Given the description of an element on the screen output the (x, y) to click on. 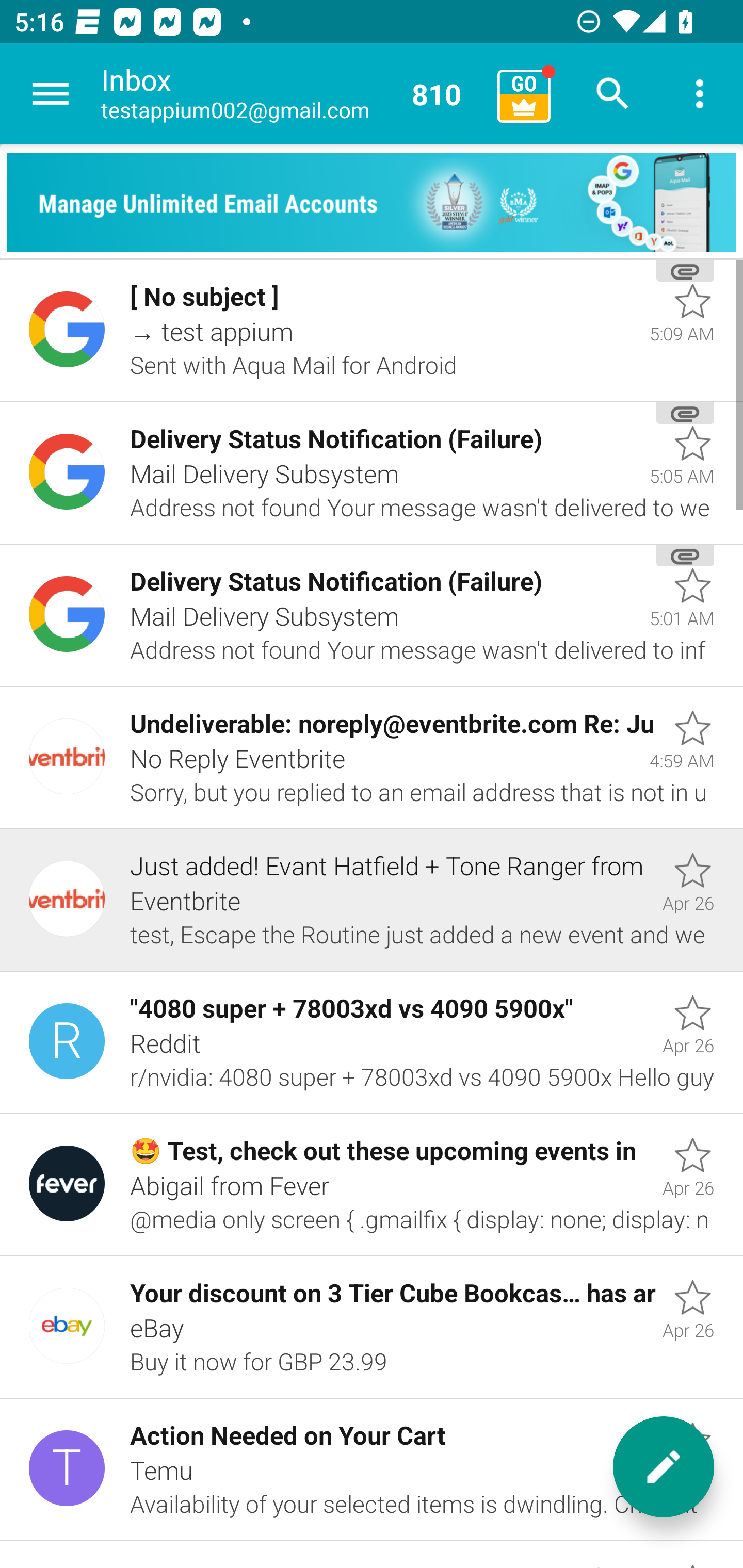
Navigate up (50, 93)
Inbox testappium002@gmail.com 810 (291, 93)
Search (612, 93)
More options (699, 93)
New message (663, 1466)
